Given the description of an element on the screen output the (x, y) to click on. 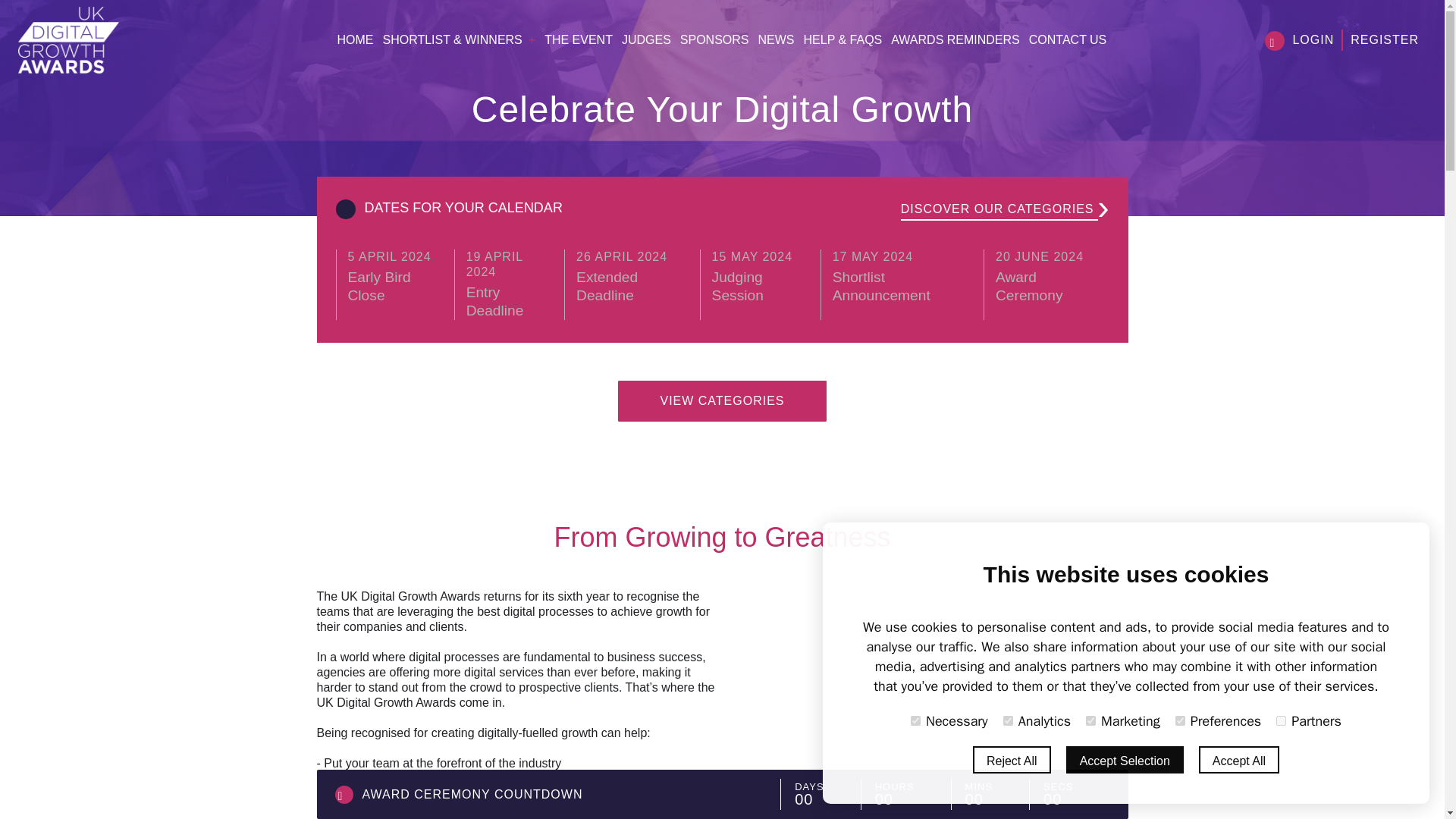
DISCOVER OUR CATEGORIES (999, 209)
AWARDS REMINDERS (955, 39)
Preferences (1179, 720)
CONTACT US (1067, 39)
NEWS (1046, 275)
VIEW CATEGORIES (776, 39)
Necessary (722, 400)
SPONSORS (509, 283)
Marketing (915, 720)
HOME (714, 39)
JUDGES (631, 275)
